Given the description of an element on the screen output the (x, y) to click on. 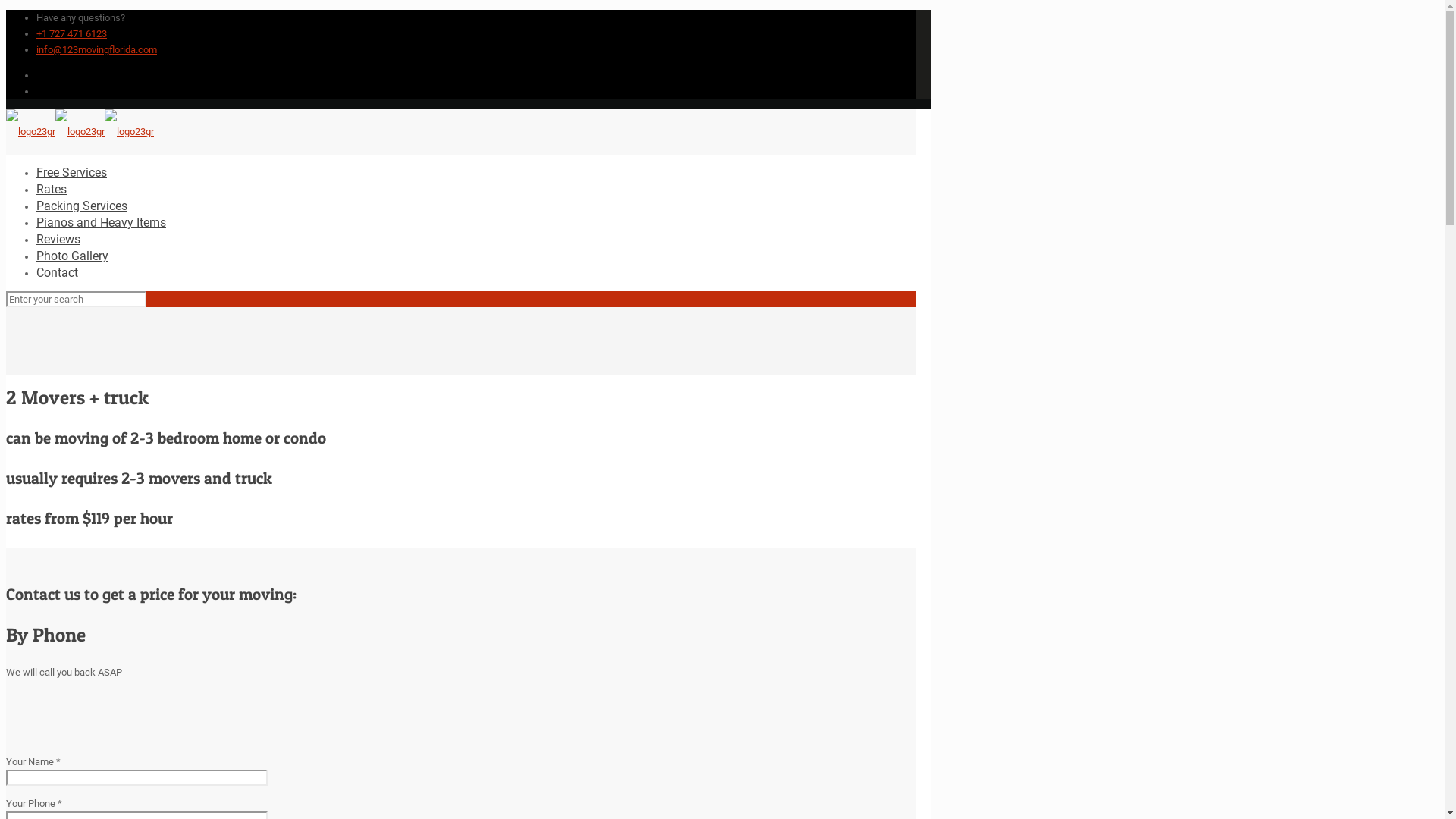
Packing Services Element type: text (81, 205)
Rates Element type: text (51, 188)
Pianos and Heavy Items Element type: text (101, 222)
Contact Element type: text (57, 272)
Reviews Element type: text (58, 238)
info@123movingflorida.com Element type: text (96, 49)
Photo Gallery Element type: text (72, 255)
123movingflorida.com Element type: hover (79, 131)
Free Services Element type: text (71, 172)
+1 727 471 6123 Element type: text (71, 33)
